Given the description of an element on the screen output the (x, y) to click on. 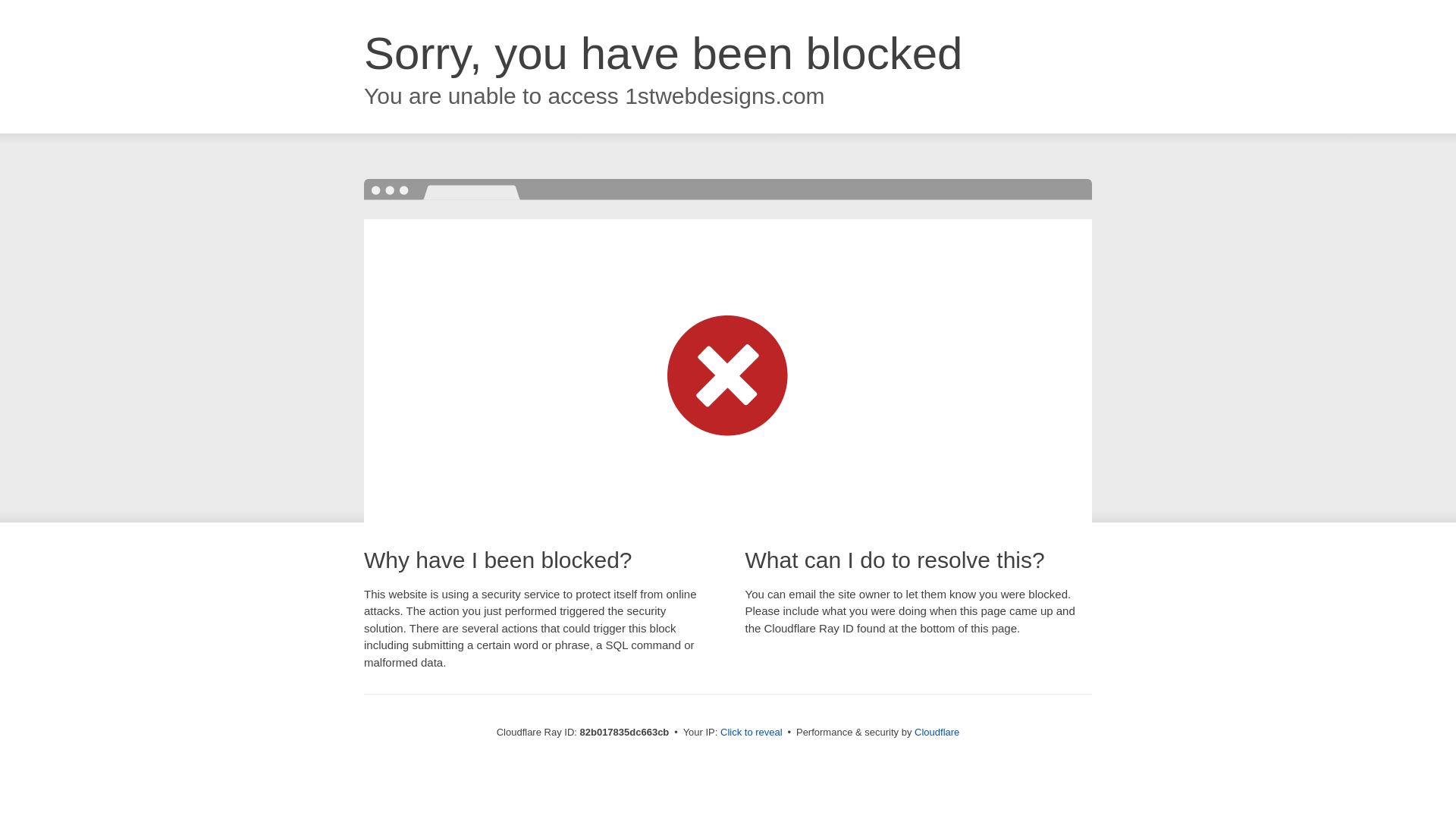
Click to reveal Element type: text (751, 732)
Cloudflare Element type: text (936, 731)
